Given the description of an element on the screen output the (x, y) to click on. 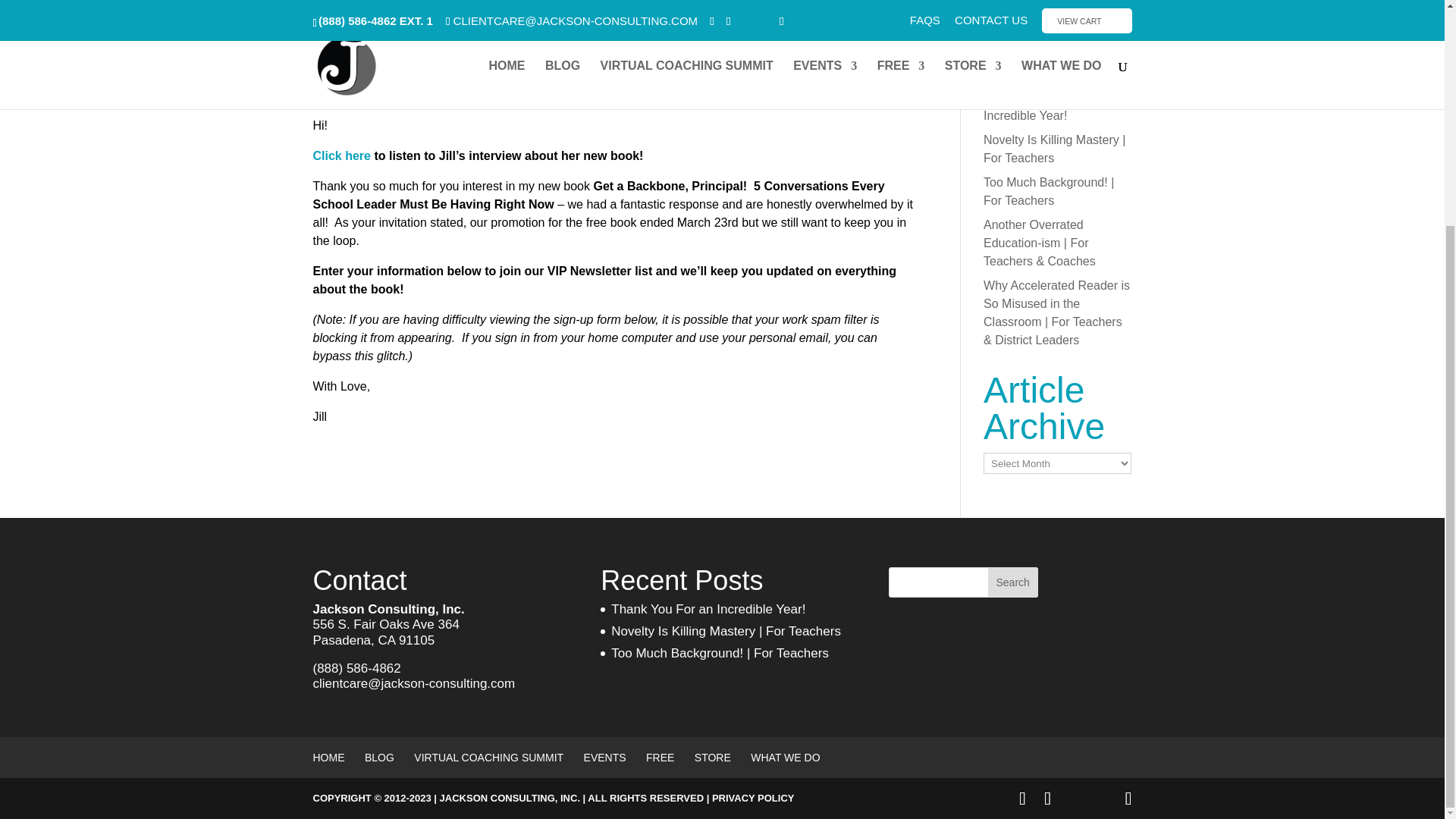
Search (1013, 582)
